Given the description of an element on the screen output the (x, y) to click on. 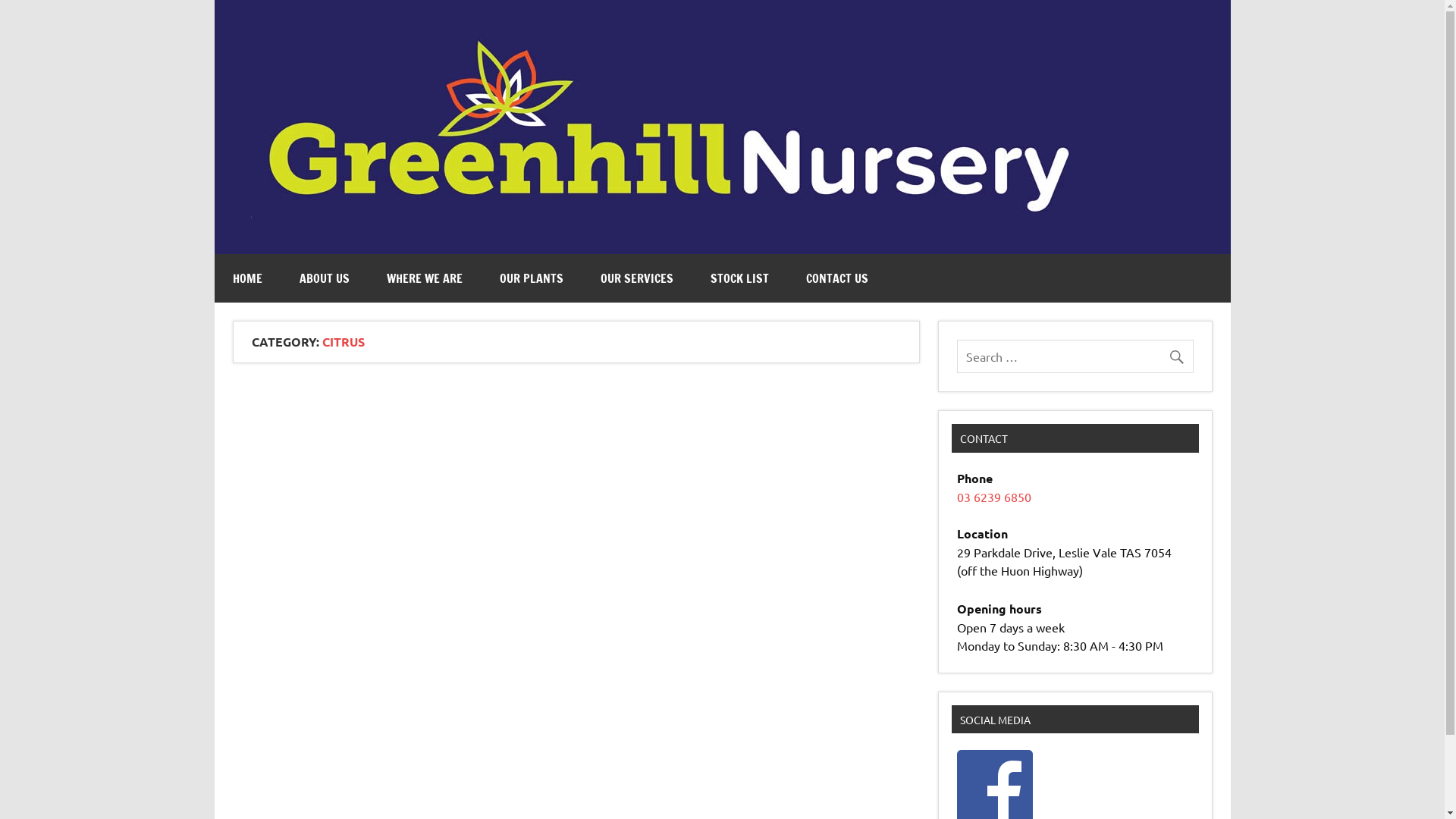
OUR SERVICES Element type: text (636, 278)
STOCK LIST Element type: text (738, 278)
OUR PLANTS Element type: text (530, 278)
ABOUT US Element type: text (323, 278)
WHERE WE ARE Element type: text (424, 278)
HOME Element type: text (246, 278)
03 6239 6850 Element type: text (994, 496)
CONTACT US Element type: text (836, 278)
